Given the description of an element on the screen output the (x, y) to click on. 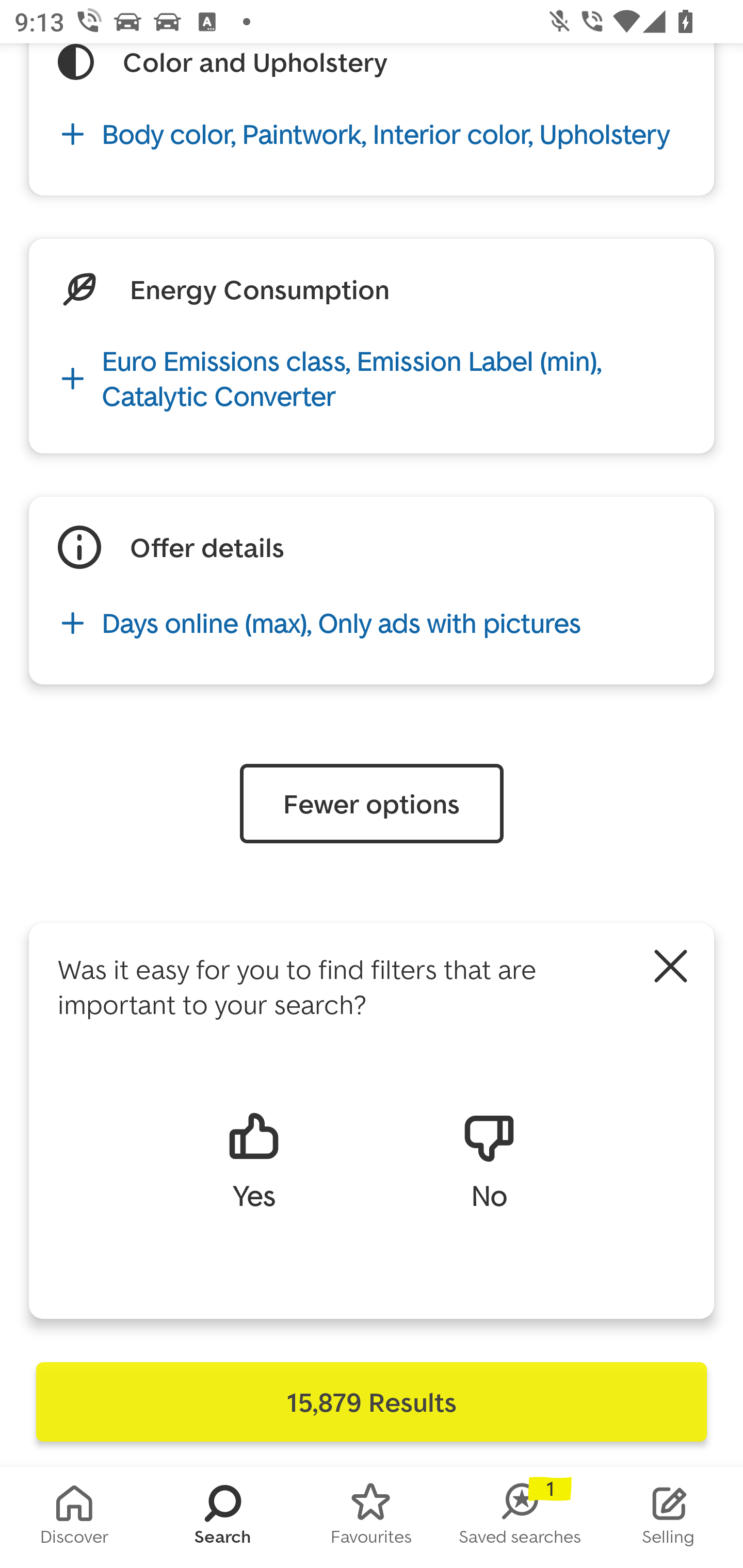
Color and Upholstery (254, 61)
Body color, Paintwork, Interior color, Upholstery (371, 134)
Energy Consumption (259, 289)
Offer details (207, 546)
Days online (max), Only ads with pictures (371, 623)
Fewer options (371, 803)
Yes (253, 1159)
No (489, 1159)
15,879 Results (371, 1401)
HOMESCREEN Discover (74, 1517)
SEARCH Search (222, 1517)
FAVORITES Favourites (371, 1517)
SAVED_SEARCHES Saved searches 1 (519, 1517)
STOCK_LIST Selling (668, 1517)
